Given the description of an element on the screen output the (x, y) to click on. 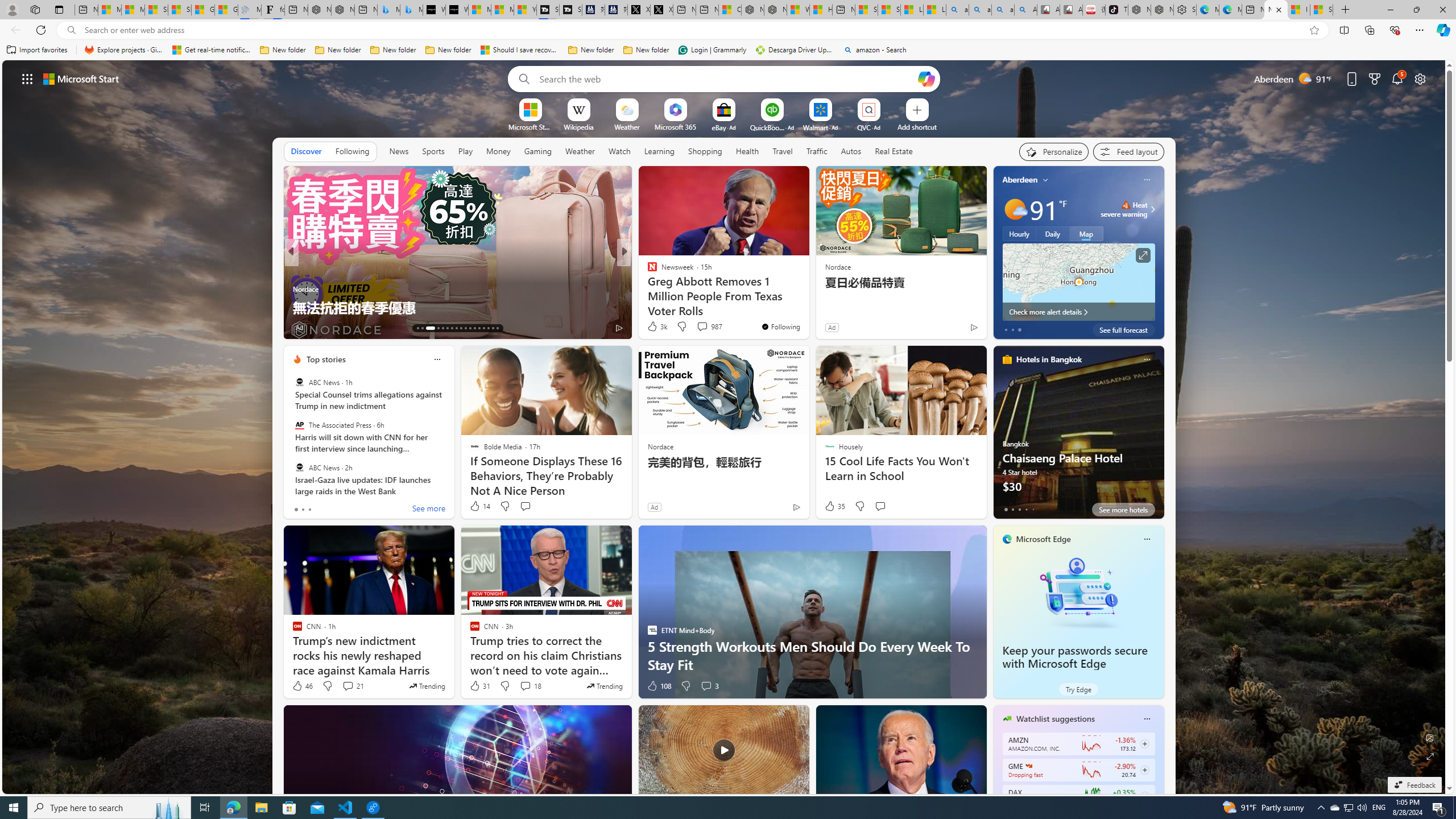
Search icon (70, 29)
AutomationID: tab-22 (465, 328)
Login | Grammarly (712, 49)
tab-0 (1005, 509)
AutomationID: tab-27 (488, 328)
AutomationID: tab-16 (435, 328)
Shopping (705, 151)
You're following The Weather Channel (949, 329)
AutomationID: tab-17 (442, 328)
View comments 3 Comment (709, 685)
Chaisaeng Palace Hotel (1078, 436)
